Given the description of an element on the screen output the (x, y) to click on. 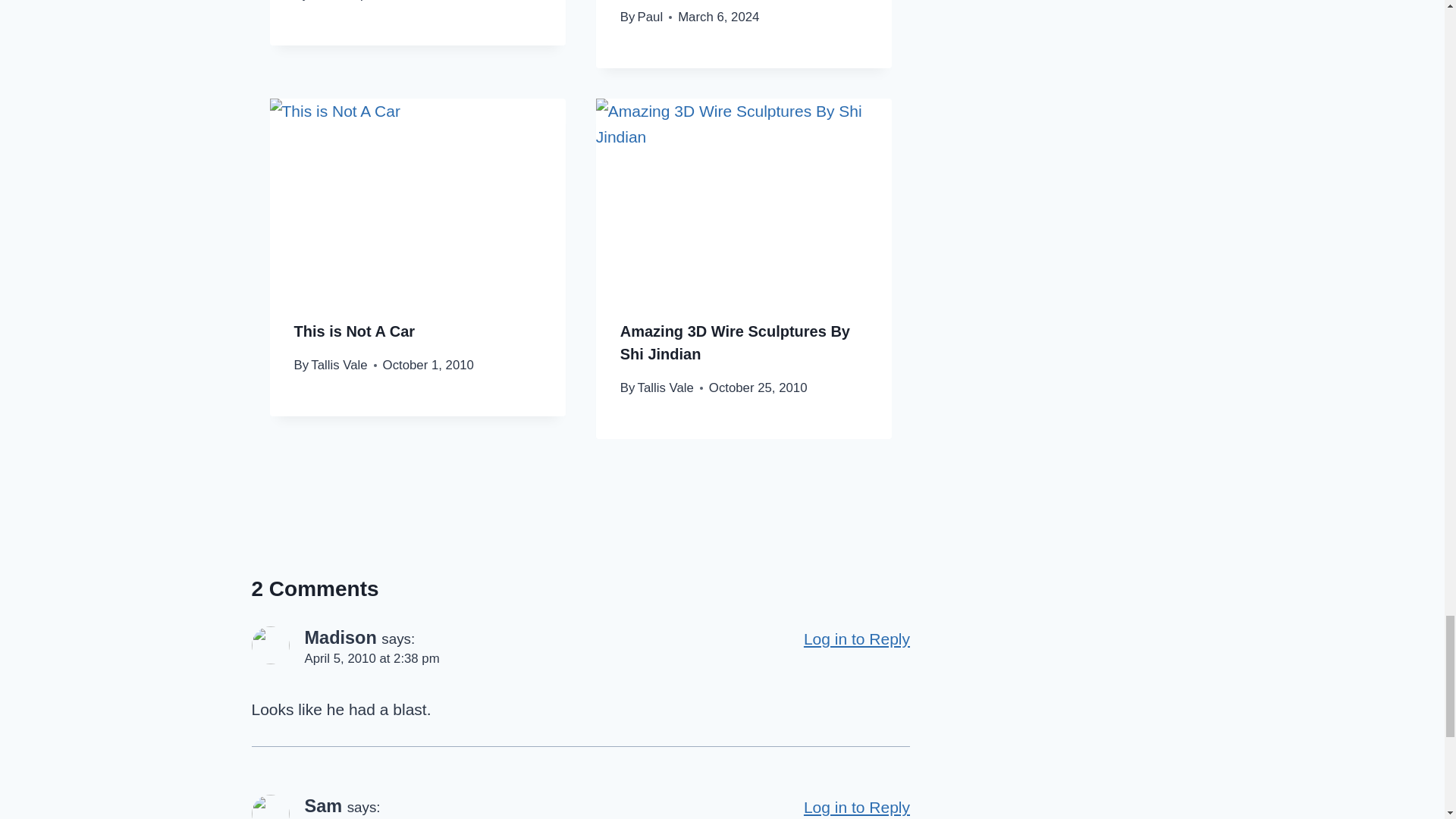
This is Not A Car (354, 330)
Paul (650, 16)
Tallis Vale (338, 364)
Paul (323, 0)
